Given the description of an element on the screen output the (x, y) to click on. 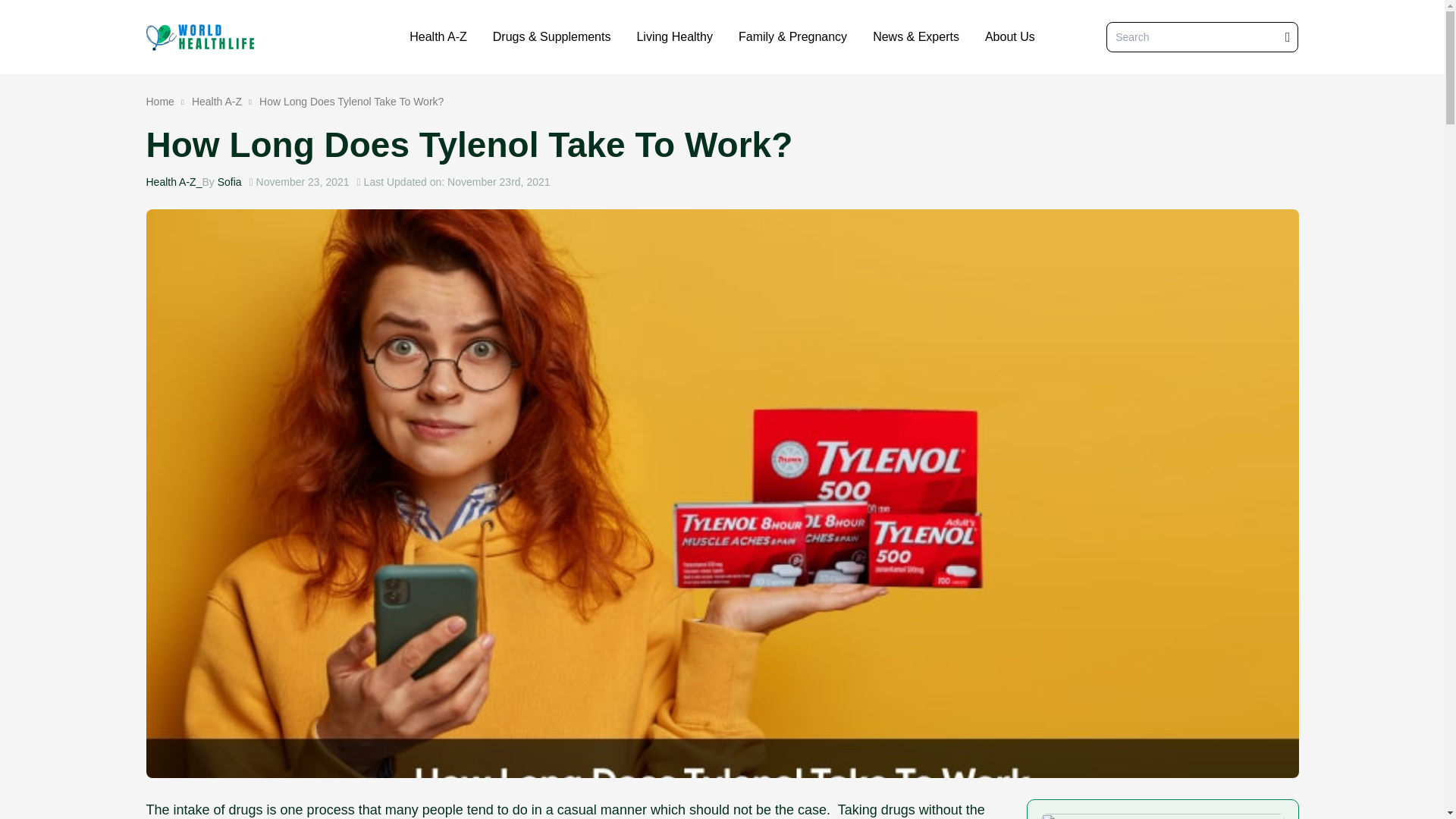
Health A-Z (216, 101)
Living Healthy (674, 36)
Health A-Z (438, 36)
